Given the description of an element on the screen output the (x, y) to click on. 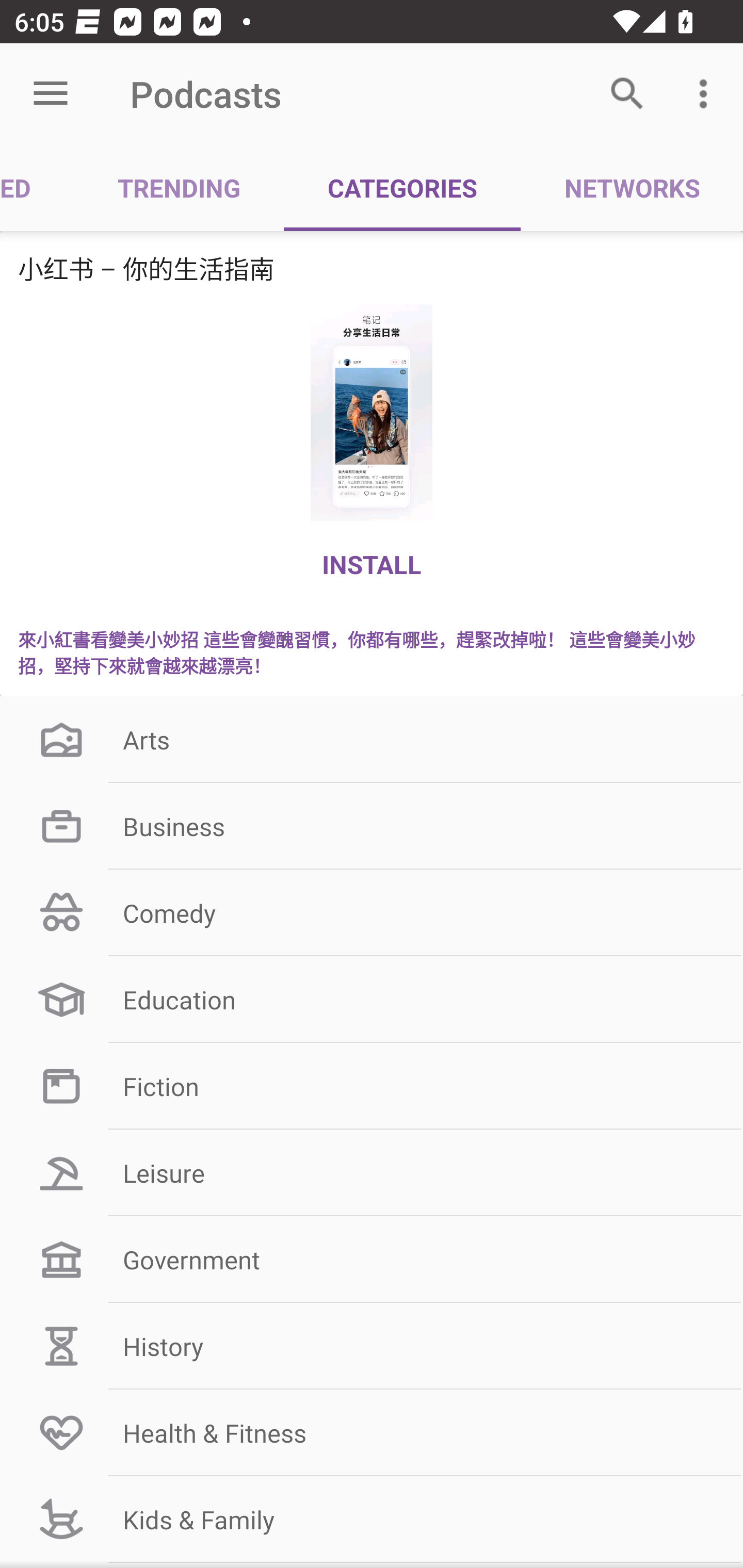
Open menu (50, 93)
Search (626, 93)
More options (706, 93)
TRENDING (178, 187)
CATEGORIES (401, 187)
NETWORKS (631, 187)
小红书 – 你的生活指南 (371, 267)
INSTALL (371, 564)
Arts (371, 739)
Business (371, 826)
Comedy (371, 913)
Education (371, 999)
Fiction (371, 1085)
Leisure (371, 1172)
Government (371, 1259)
History (371, 1346)
Health & Fitness (371, 1432)
Kids & Family (371, 1519)
